Given the description of an element on the screen output the (x, y) to click on. 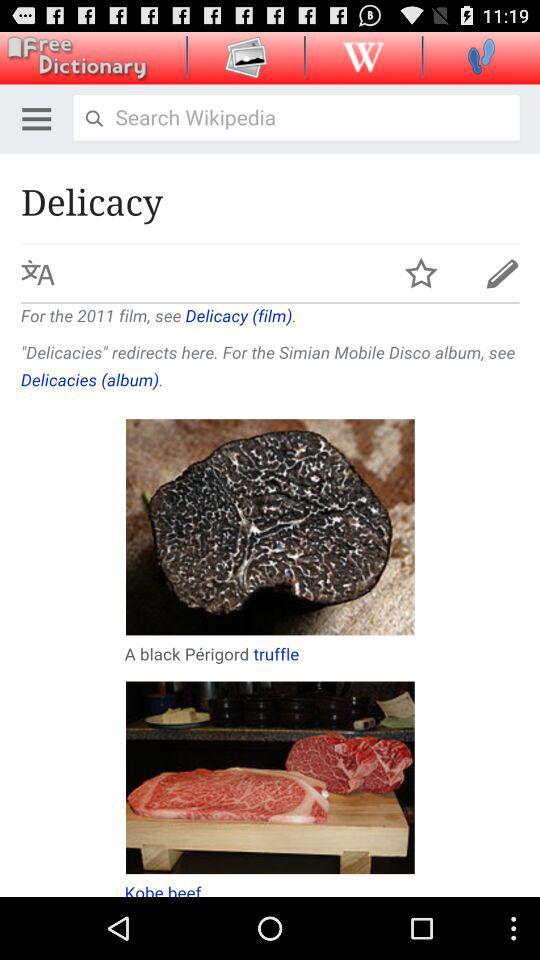
upside (363, 56)
